Given the description of an element on the screen output the (x, y) to click on. 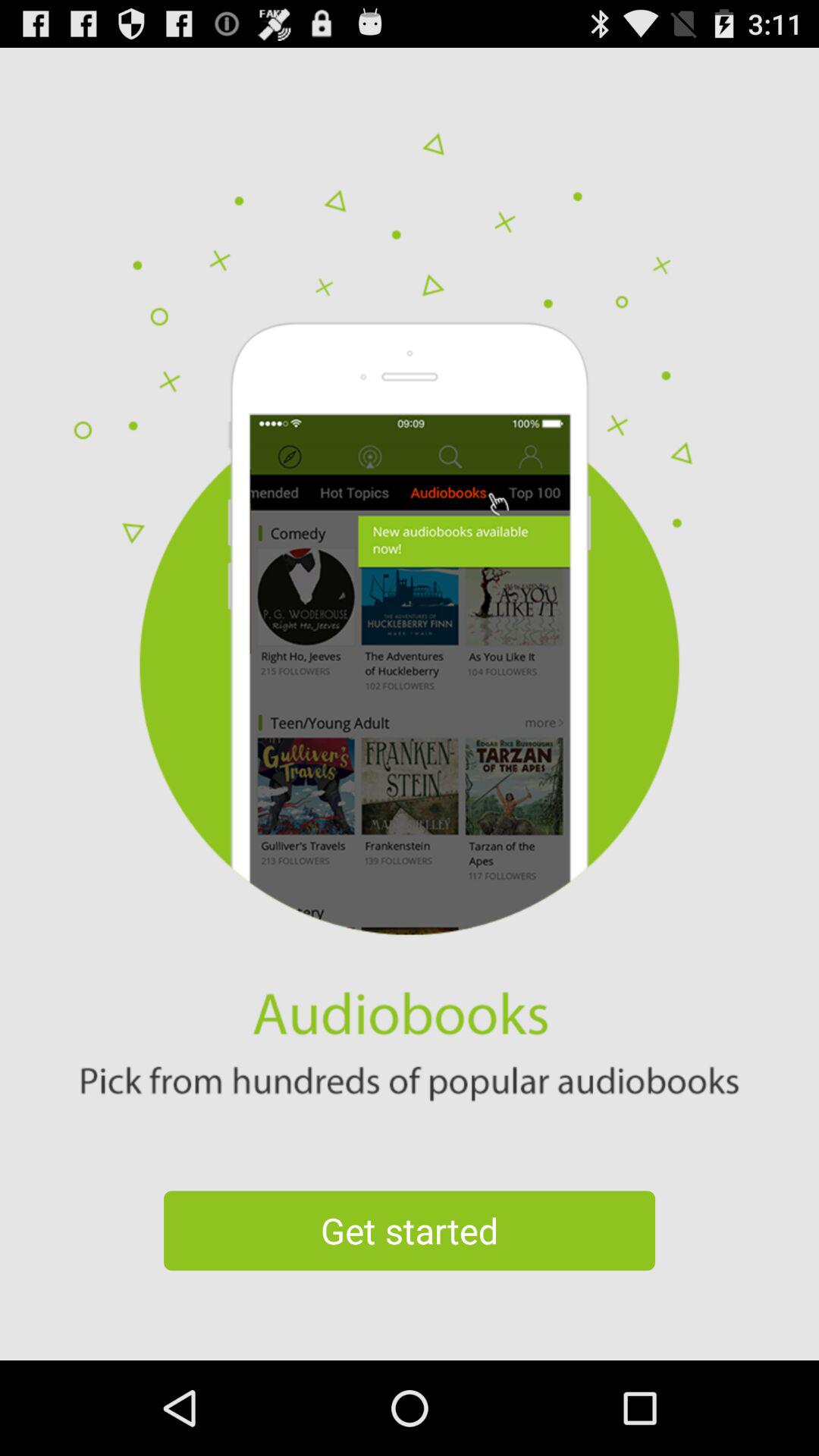
tap the icon at the bottom (409, 1230)
